Given the description of an element on the screen output the (x, y) to click on. 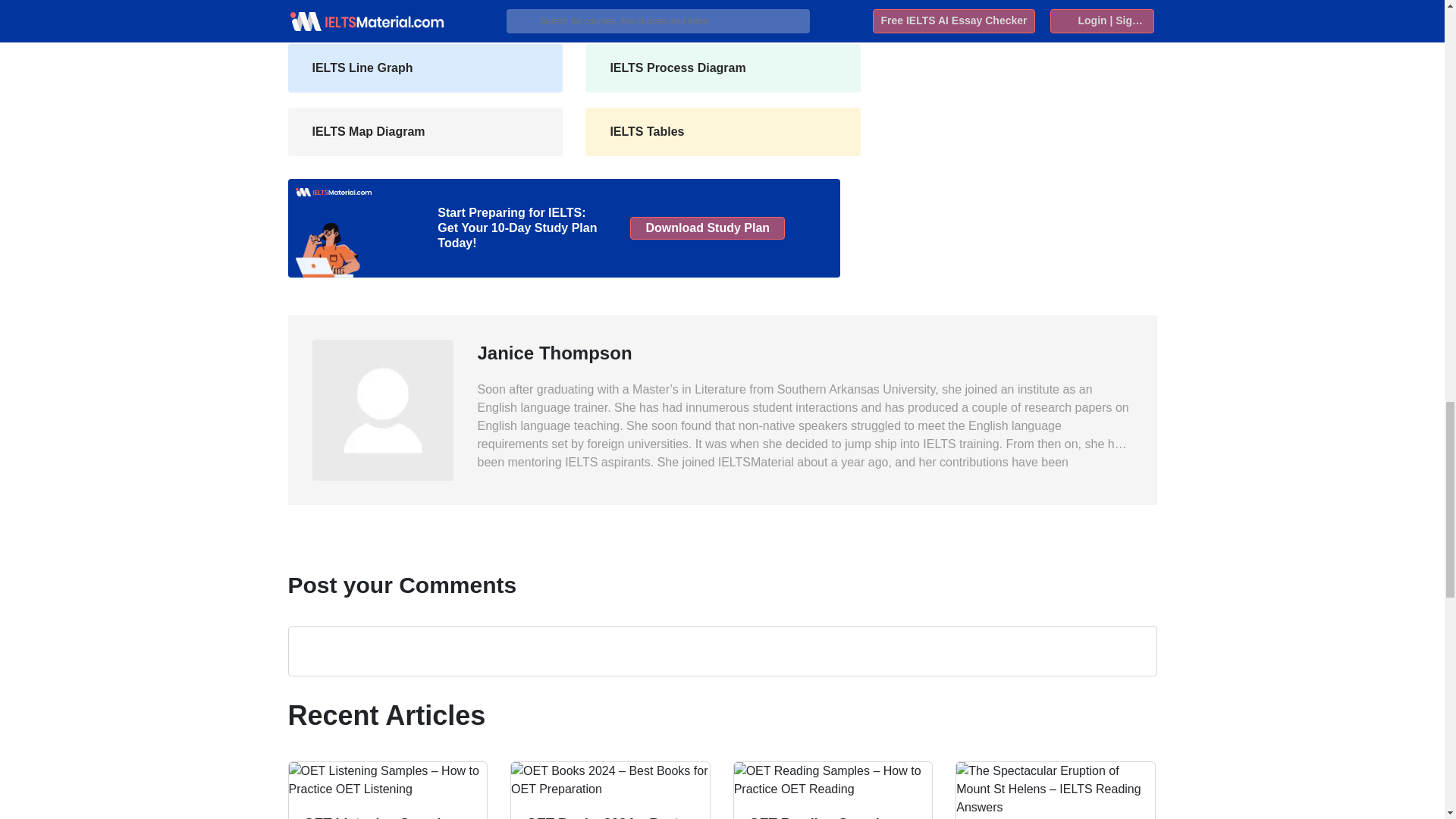
Download Study Plan (707, 228)
IELTS Process Diagram (722, 68)
IELTS Tables (722, 131)
IELTS Pie Chart (722, 14)
IELTS Bar Chart (425, 14)
IELTS Map Diagram (425, 131)
IELTS Line Graph (425, 68)
